Given the description of an element on the screen output the (x, y) to click on. 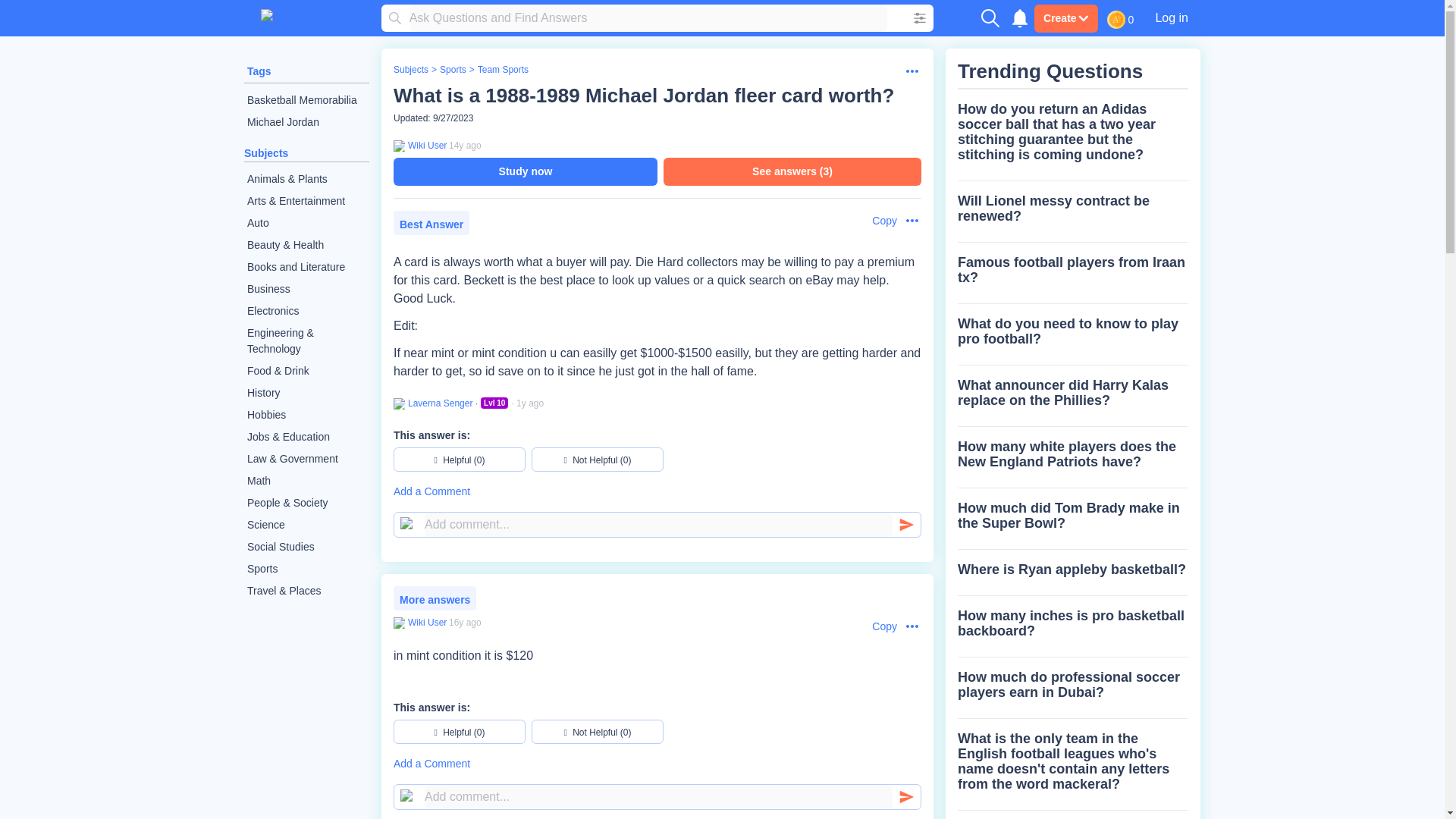
Electronics (306, 311)
2023-05-13 12:45:32 (529, 403)
Basketball Memorabilia (306, 100)
Michael Jordan (306, 122)
Copy (876, 626)
2008-07-07 03:22:09 (464, 622)
Subjects (410, 69)
Business (306, 289)
Study now (525, 171)
Log in (1170, 17)
Sports (452, 69)
Social Studies (306, 546)
What is a 1988-1989 Michael Jordan fleer card worth? (643, 95)
Team Sports (502, 69)
Science (306, 525)
